Given the description of an element on the screen output the (x, y) to click on. 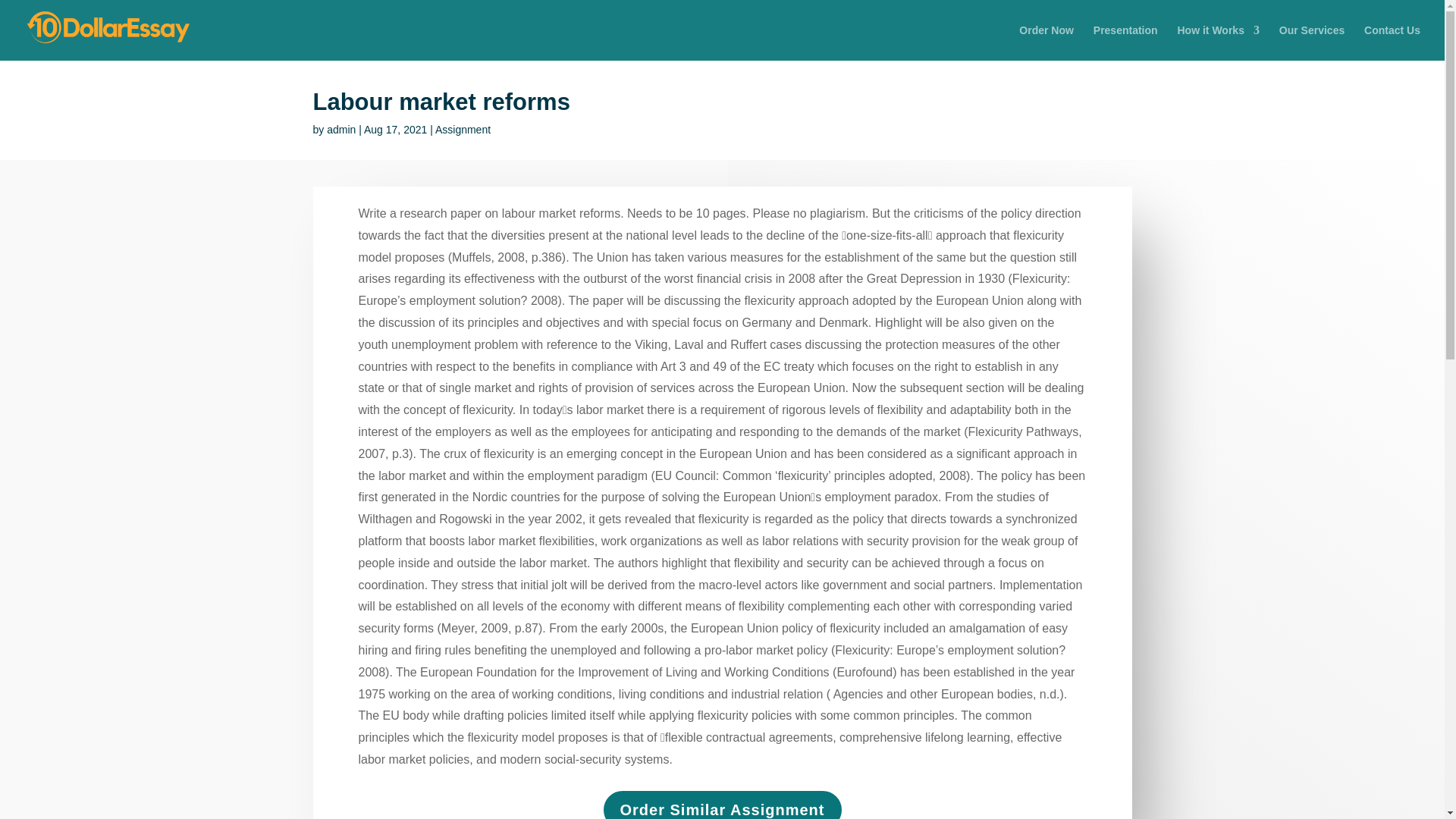
Assignment (462, 129)
Contact Us (1392, 42)
Posts by admin (340, 129)
admin (340, 129)
Order Now (1046, 42)
How it Works (1217, 42)
Order Similar Assignment (722, 805)
Presentation (1125, 42)
Our Services (1311, 42)
